Given the description of an element on the screen output the (x, y) to click on. 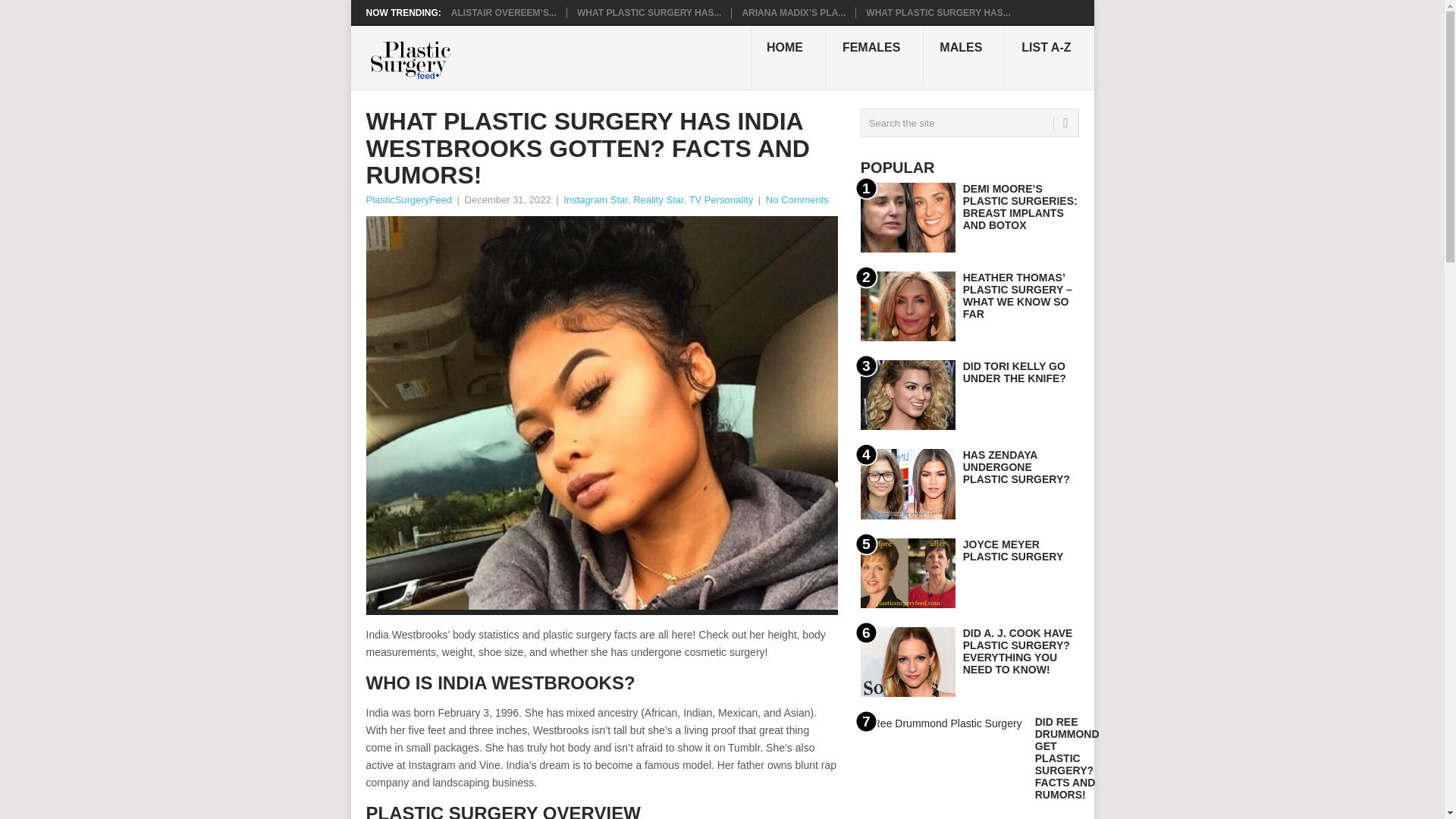
TV Personality (721, 199)
MALES (964, 56)
Search the site (969, 122)
What Plastic Surgery Has Genevieve Padalecki Gotten? (938, 12)
Instagram Star (595, 199)
LIST A-Z (1049, 56)
1 (907, 217)
PlasticSurgeryFeed (408, 199)
What Plastic Surgery Has Janella Salvador Gotten? (648, 12)
WHAT PLASTIC SURGERY HAS... (938, 12)
No Comments (796, 199)
3 (907, 394)
Reality Star (657, 199)
HOME (789, 56)
Posts by PlasticSurgeryFeed (408, 199)
